Given the description of an element on the screen output the (x, y) to click on. 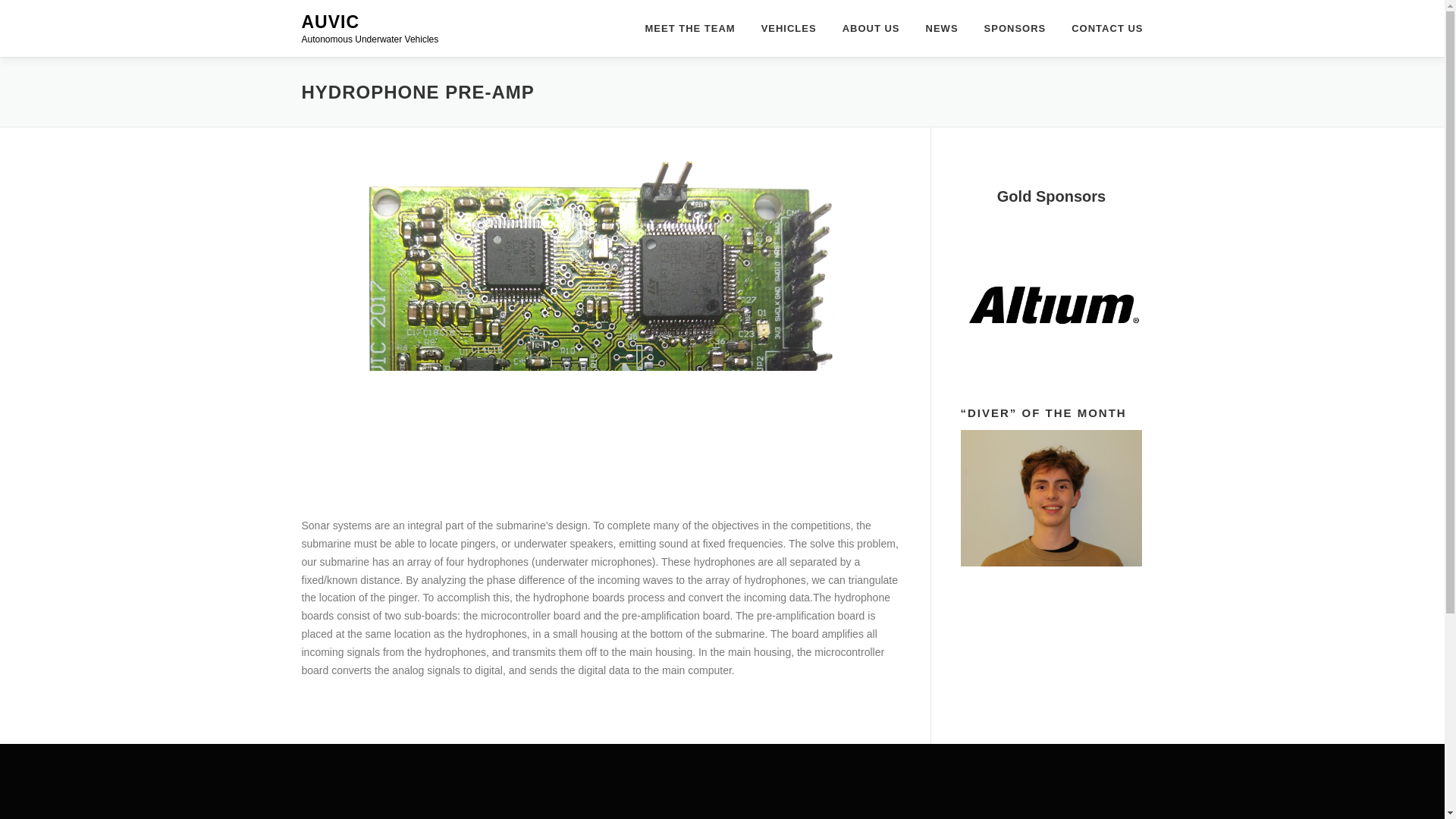
MEET THE TEAM (689, 28)
CONTACT US (1100, 28)
VEHICLES (788, 28)
AUVIC (330, 21)
ABOUT US (870, 28)
SPONSORS (1015, 28)
"Diver" of the month (1050, 497)
NEWS (941, 28)
